Given the description of an element on the screen output the (x, y) to click on. 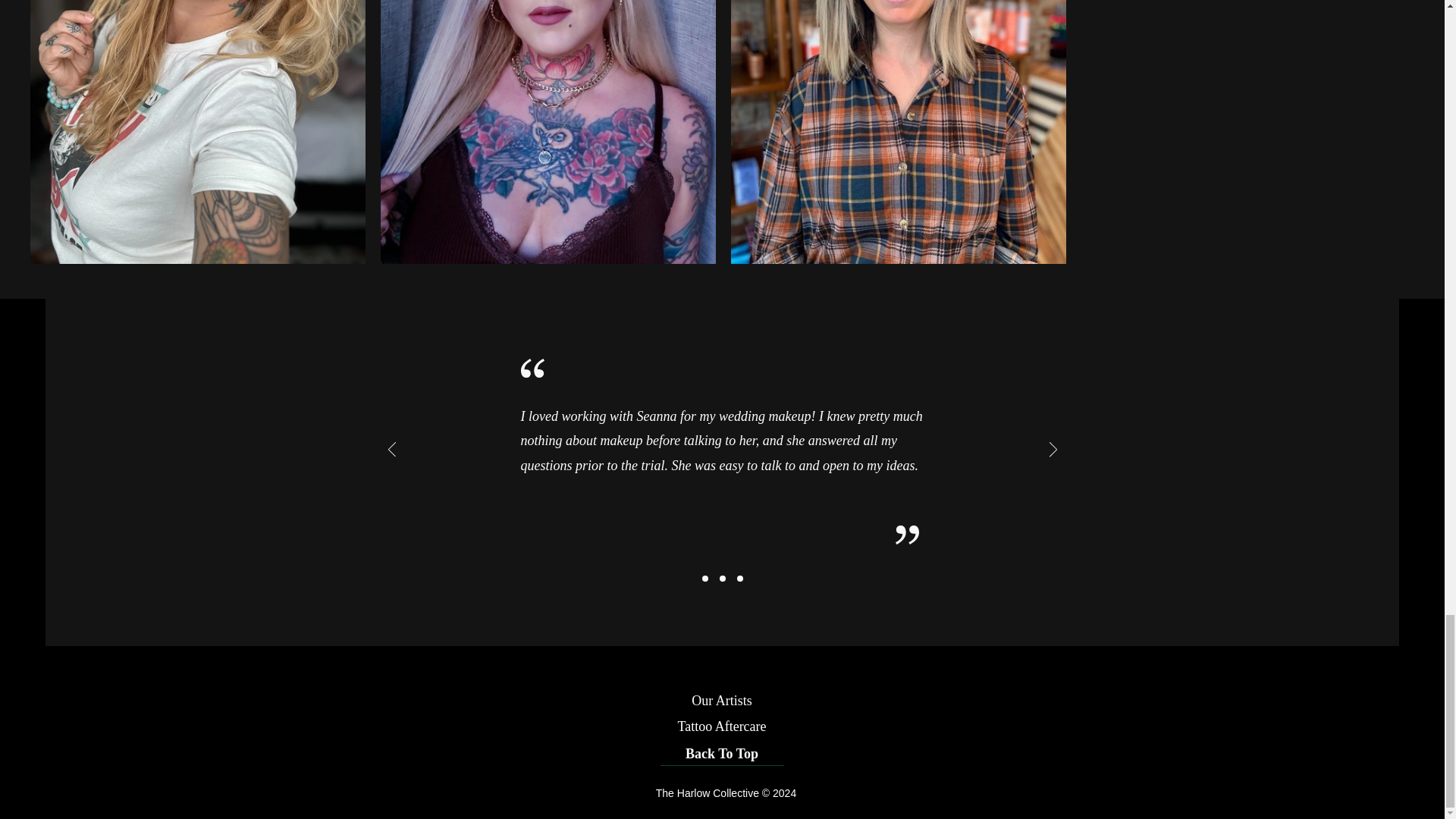
Back To Top (721, 753)
Tattoo Aftercare (721, 726)
Our Artists (721, 700)
